Given the description of an element on the screen output the (x, y) to click on. 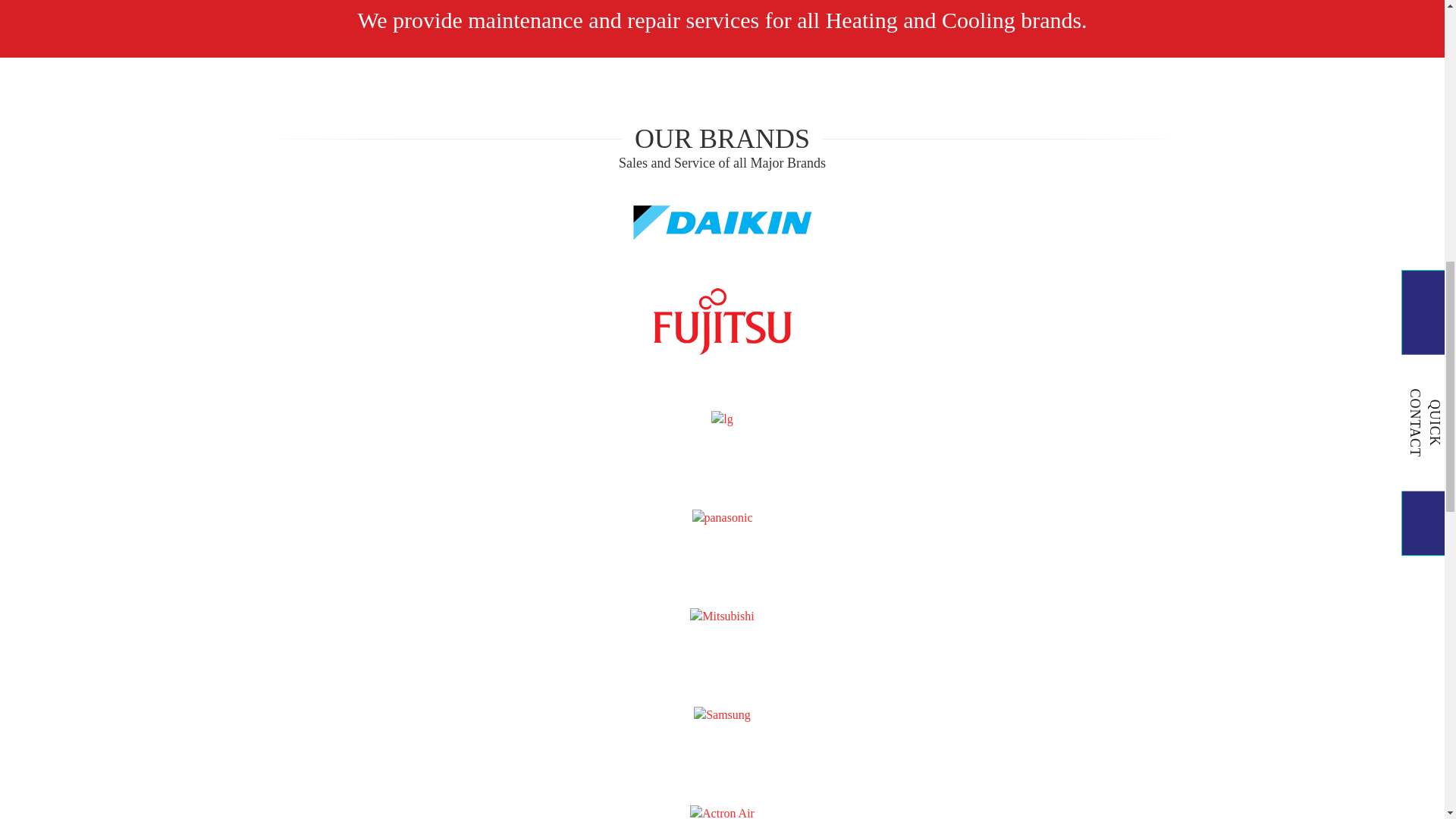
daiking (720, 222)
Actron Air (722, 812)
Mitsubishi (722, 616)
Samsung (722, 714)
fujitsu (722, 321)
lg (721, 419)
panasonic (721, 518)
